Given the description of an element on the screen output the (x, y) to click on. 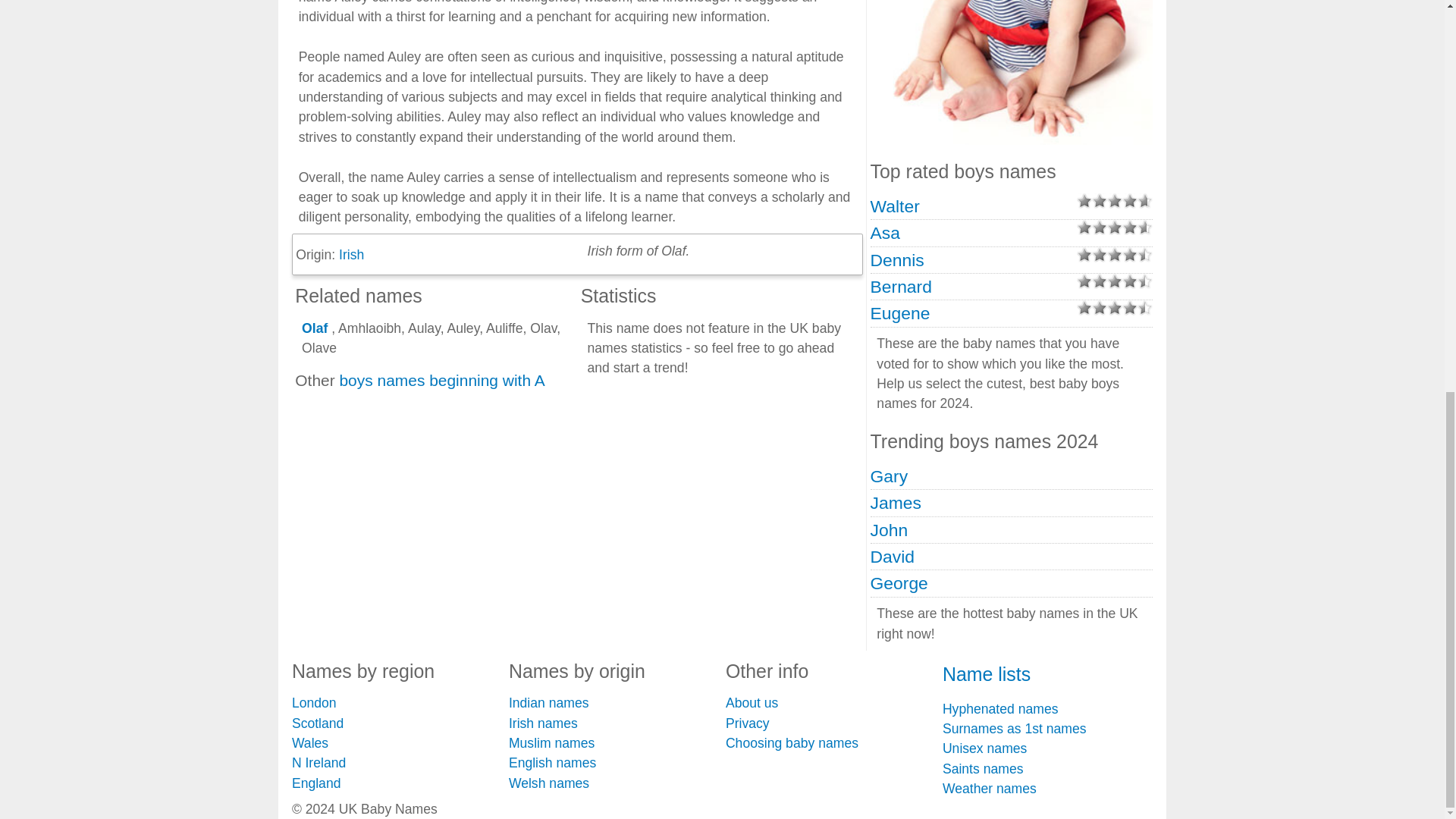
Eugene (900, 312)
England (316, 783)
N Ireland (319, 762)
James (895, 502)
Irish (351, 254)
Scotland (317, 723)
Irish names (543, 723)
Muslim names (551, 743)
Wales (310, 743)
George (899, 582)
Dennis (897, 260)
Gary (889, 476)
Asa (884, 232)
Indian names (548, 702)
boys names beginning with A (441, 380)
